Given the description of an element on the screen output the (x, y) to click on. 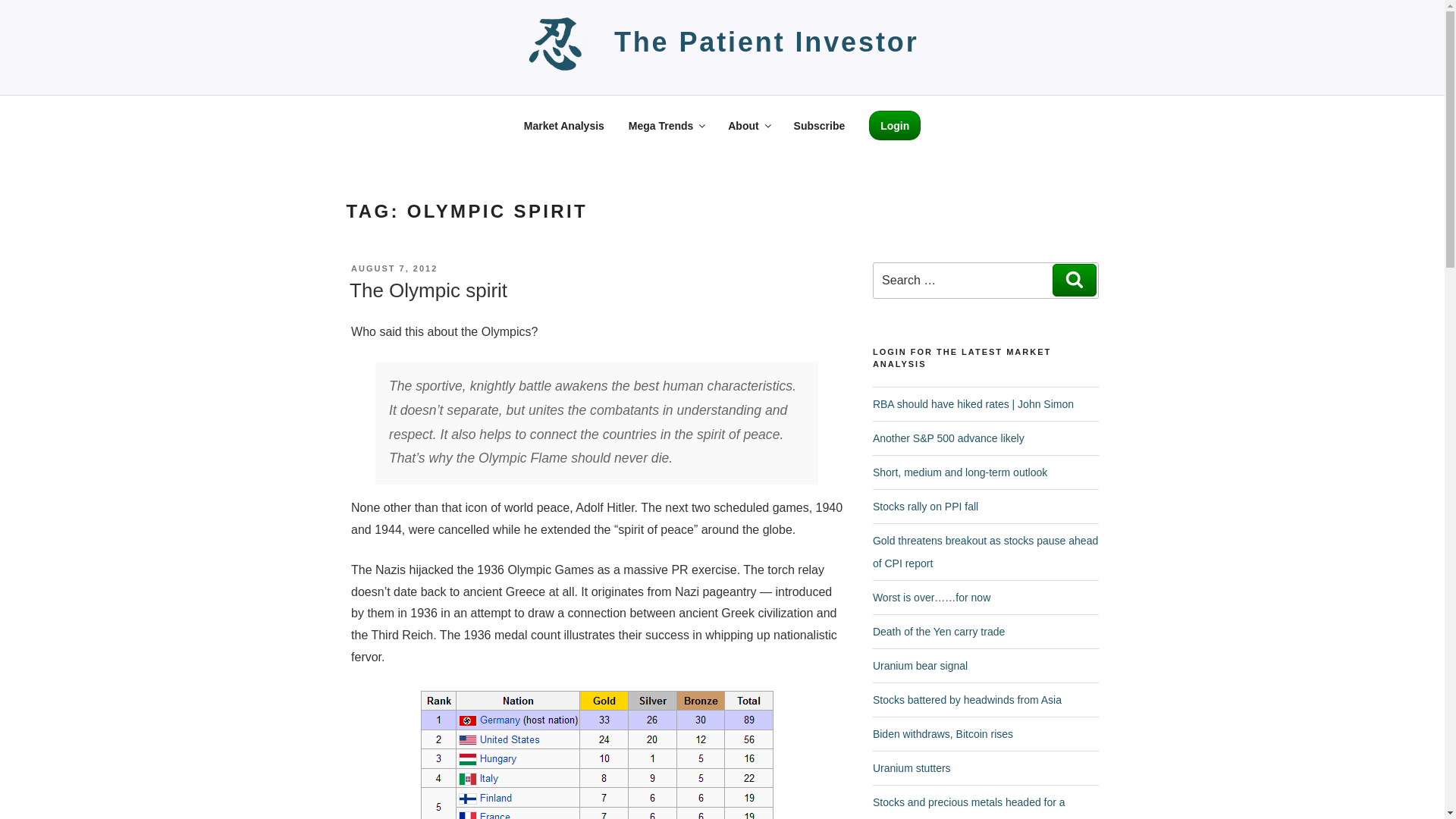
The Patient Investor (766, 41)
Gold threatens breakout as stocks pause ahead of CPI report (984, 551)
AUGUST 7, 2012 (394, 267)
Subscribe (819, 126)
Login (894, 125)
Death of the Yen carry trade (938, 631)
Stocks rally on PPI fall (925, 506)
Short, medium and long-term outlook (959, 472)
The Olympic spirit (427, 290)
Uranium bear signal (920, 665)
